Given the description of an element on the screen output the (x, y) to click on. 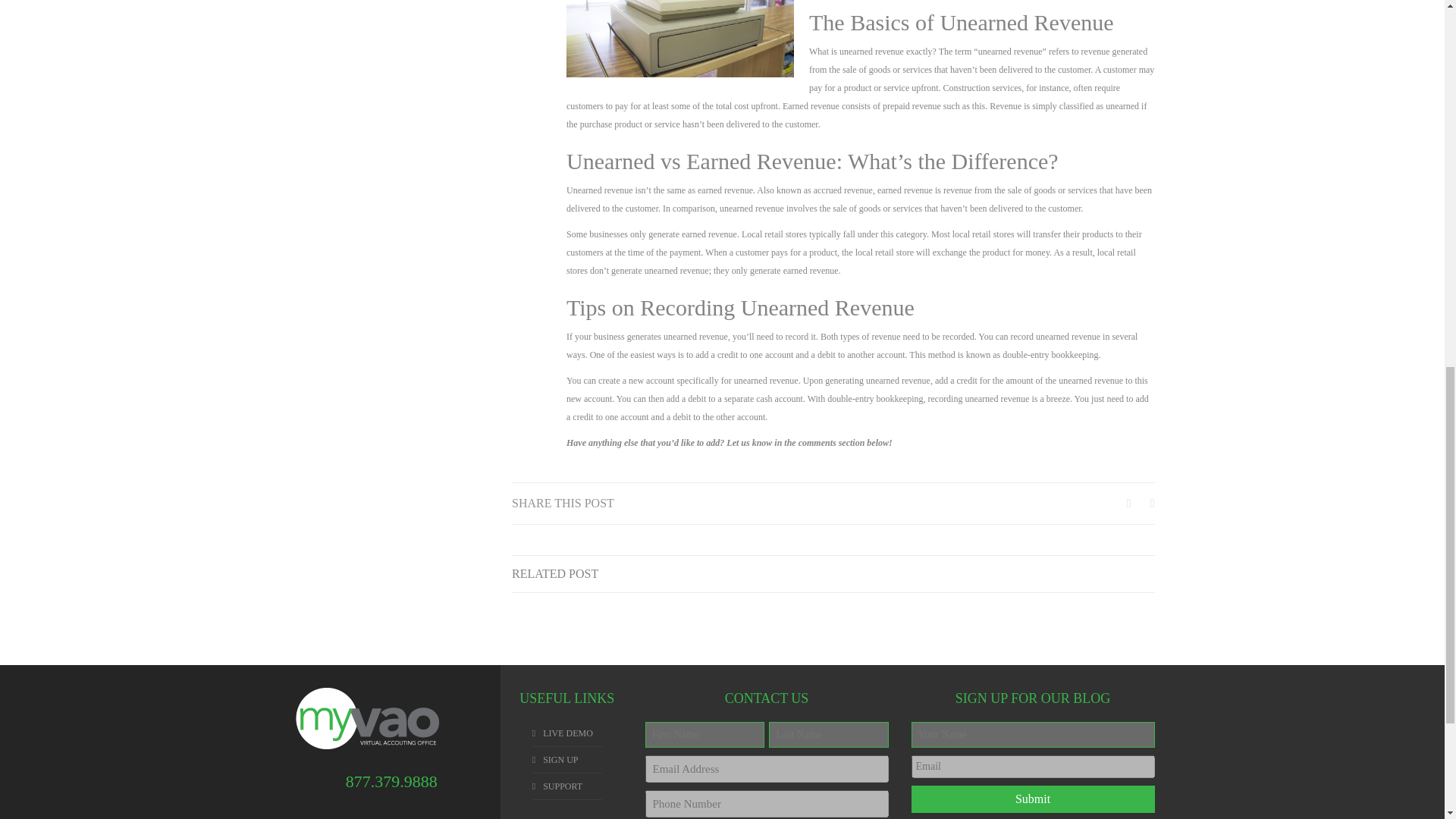
877.379.9888 (392, 781)
Submit (1032, 799)
Submit (1032, 799)
LIVE DEMO (567, 733)
SIGN UP (560, 759)
SUPPORT (562, 786)
